Given the description of an element on the screen output the (x, y) to click on. 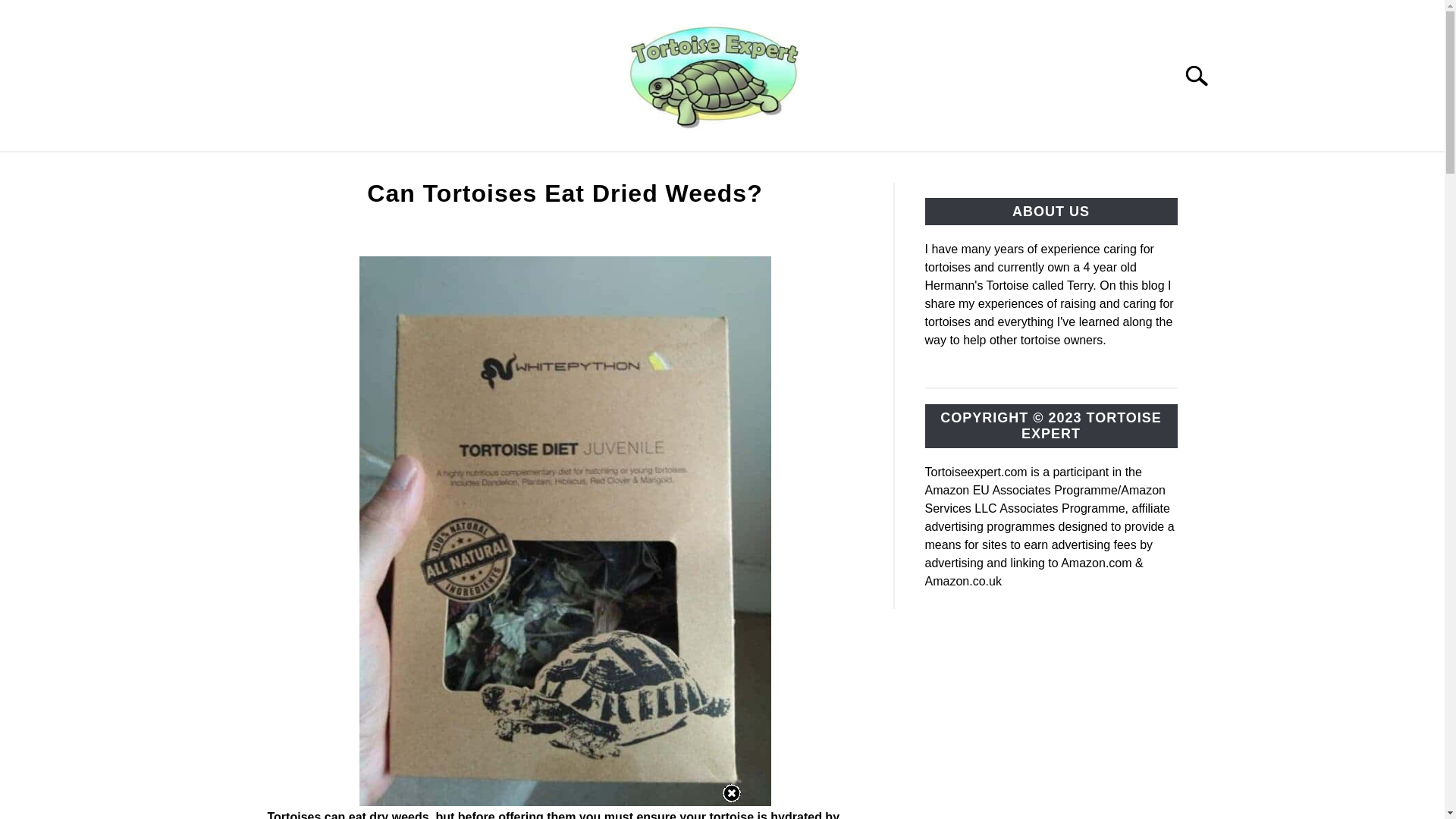
KEEPING A TORTOISE (351, 169)
TORTOISE HEALTH (913, 169)
TORTOISE BOOKSHOP (529, 169)
Search (1203, 75)
SHOPPING FOR TORTOISES (727, 169)
